Given the description of an element on the screen output the (x, y) to click on. 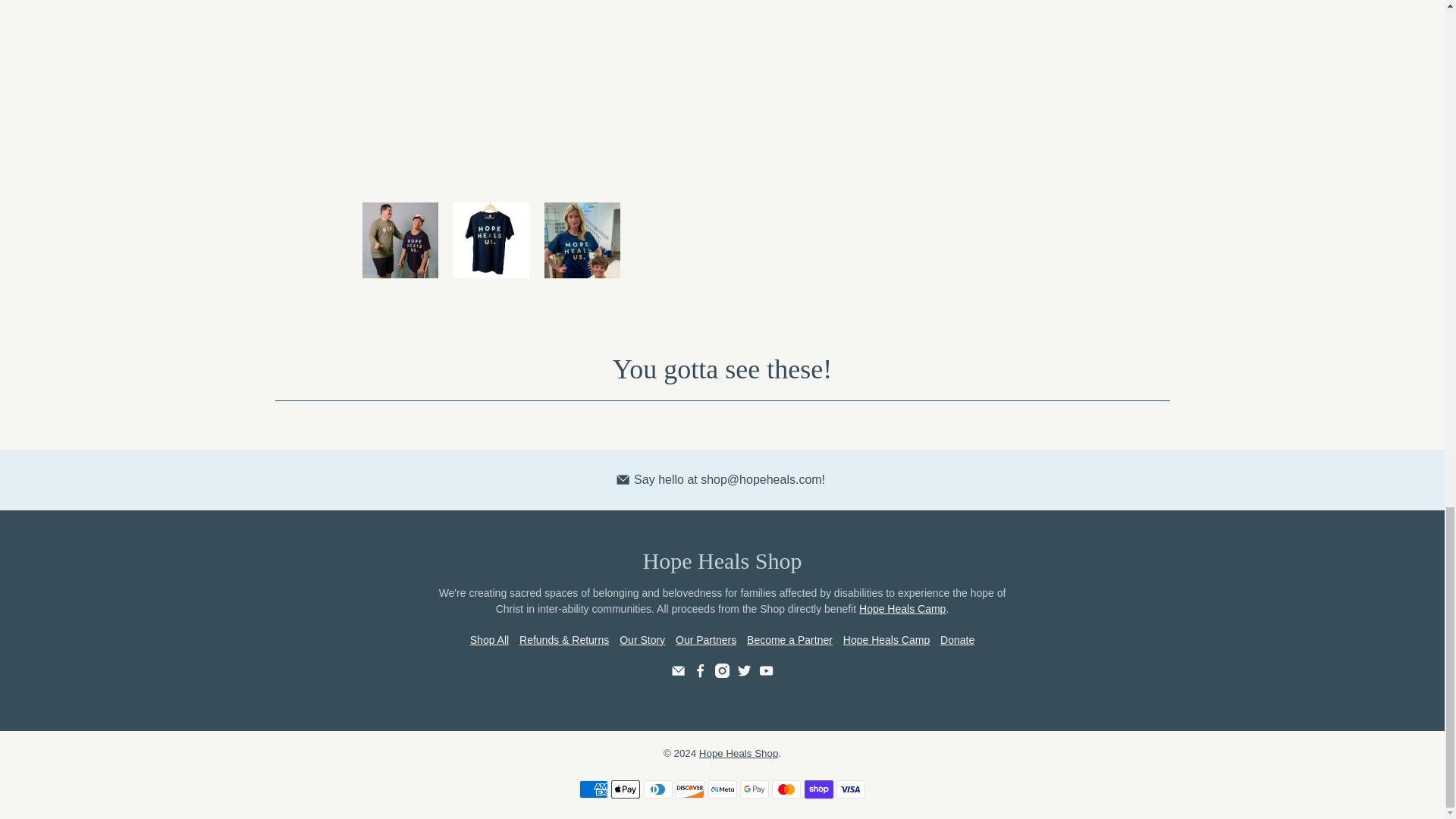
Meta Pay (721, 789)
Apple Pay (625, 789)
Shop Pay (818, 789)
Google Pay (753, 789)
Hope Heals Shop on Facebook (700, 674)
Hope Heals Shop on Twitter (743, 674)
Visa (849, 789)
Email Hope Heals Shop (678, 674)
Hope Heals Shop on Instagram (721, 674)
American Express (593, 789)
Hope Heals Shop on YouTube (765, 674)
Mastercard (785, 789)
Diners Club (657, 789)
Discover (689, 789)
